Given the description of an element on the screen output the (x, y) to click on. 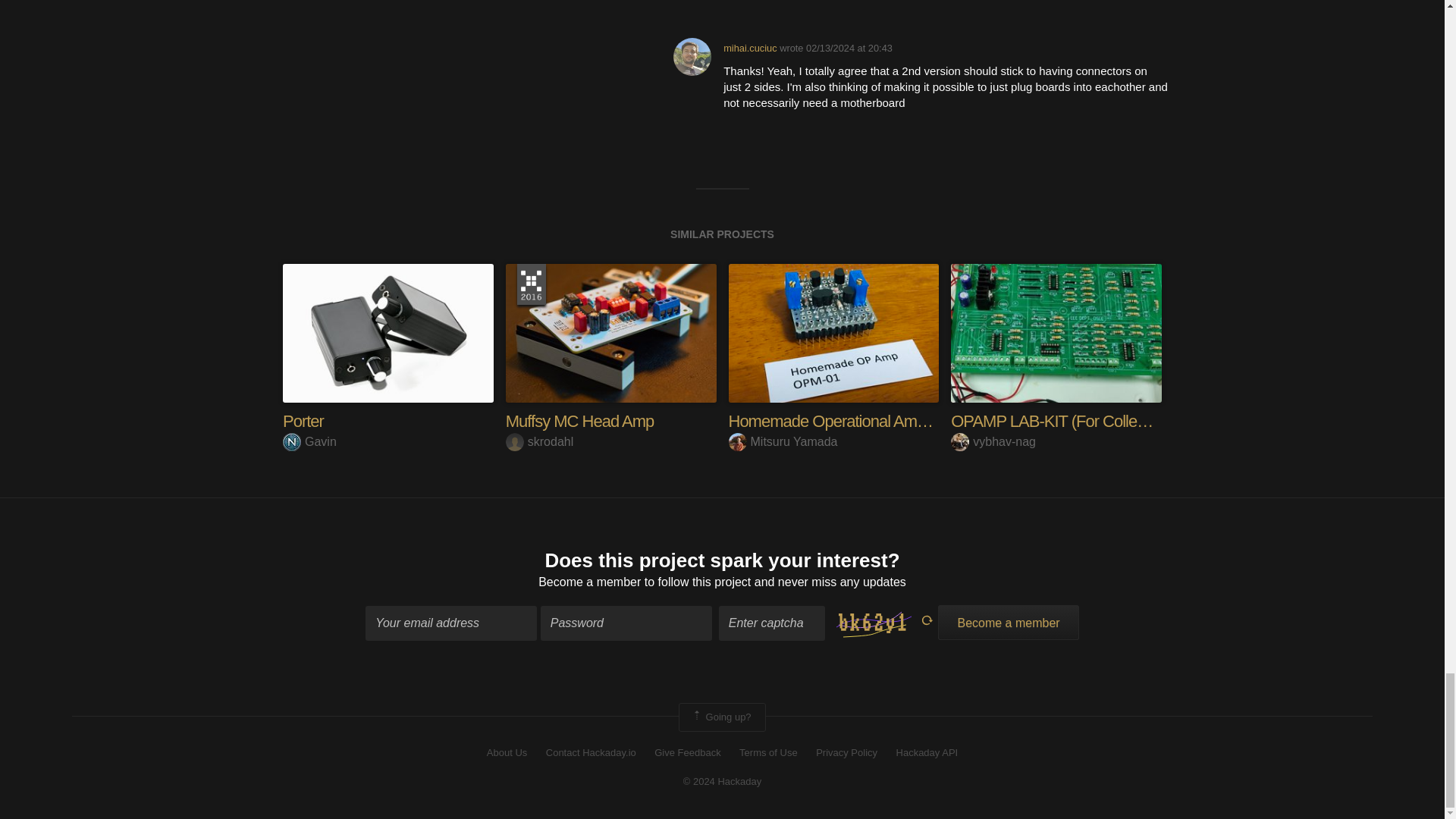
5 months ago (849, 48)
